Given the description of an element on the screen output the (x, y) to click on. 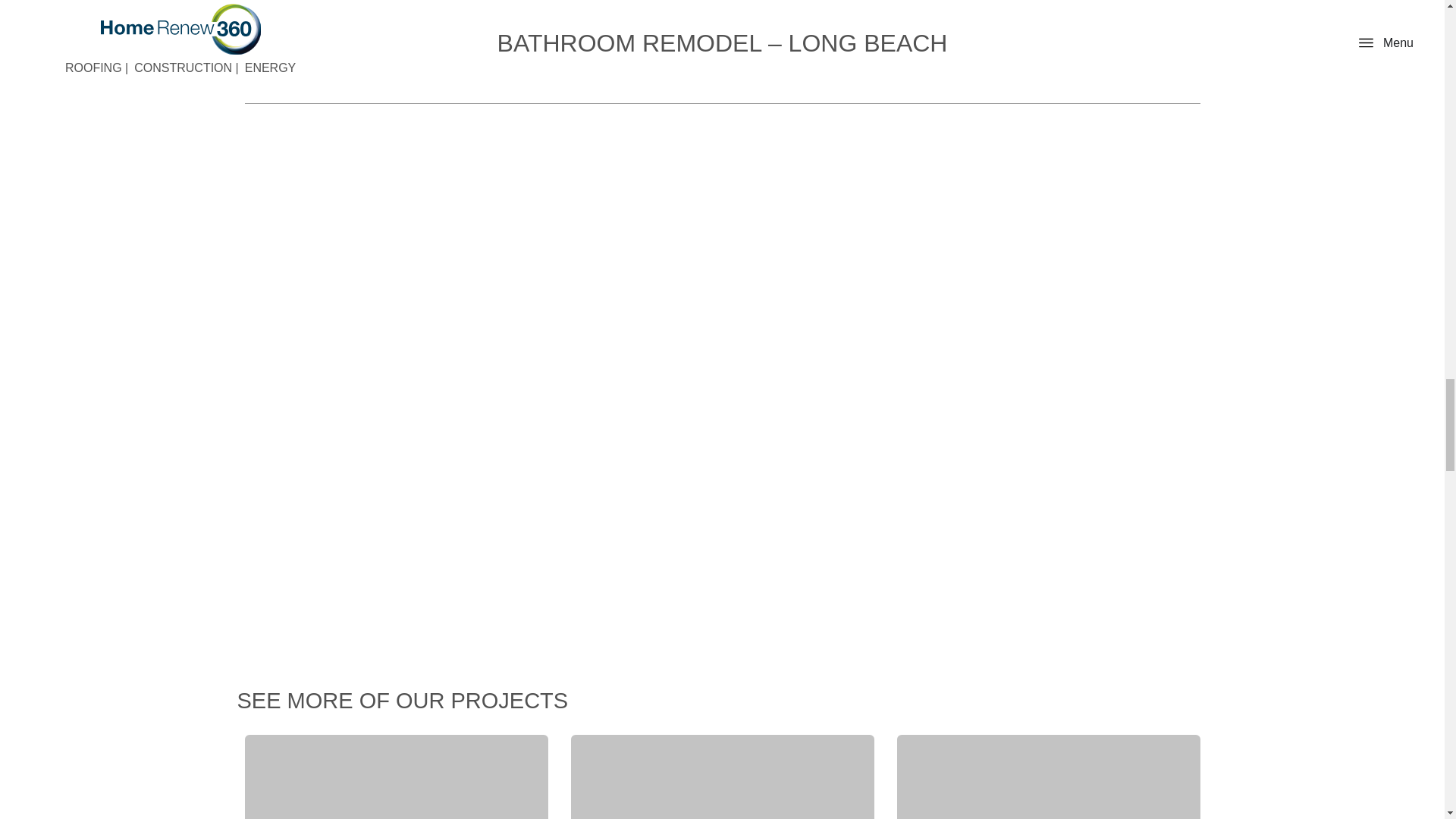
10 (721, 776)
1.1 (395, 776)
Final (1047, 776)
